Given the description of an element on the screen output the (x, y) to click on. 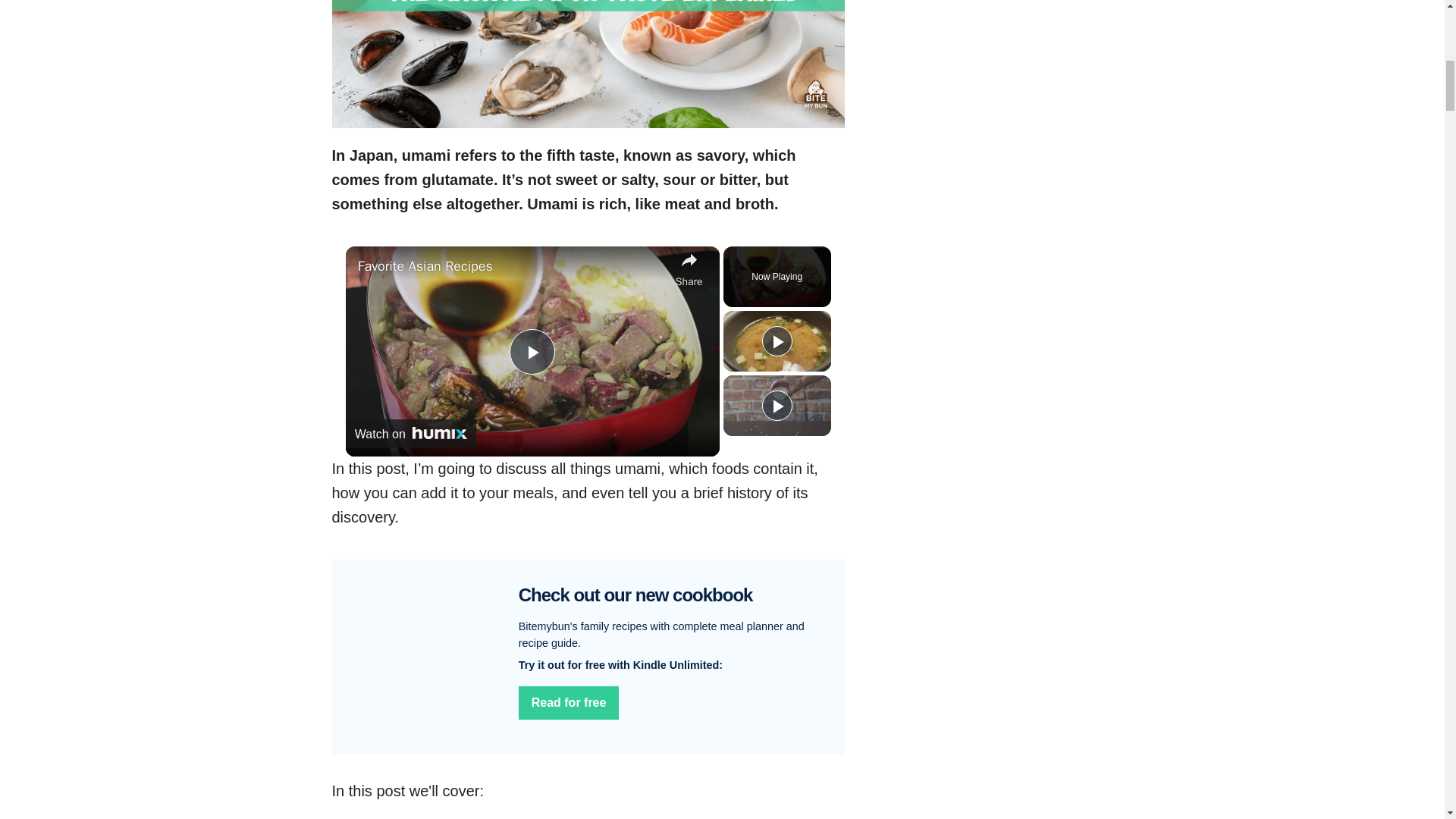
Read for free (569, 702)
Favorite Asian Recipes (513, 266)
Play Video (531, 351)
Watch on (411, 433)
Play (776, 405)
Now Playing (776, 276)
Play Video (531, 351)
Play (776, 340)
